Given the description of an element on the screen output the (x, y) to click on. 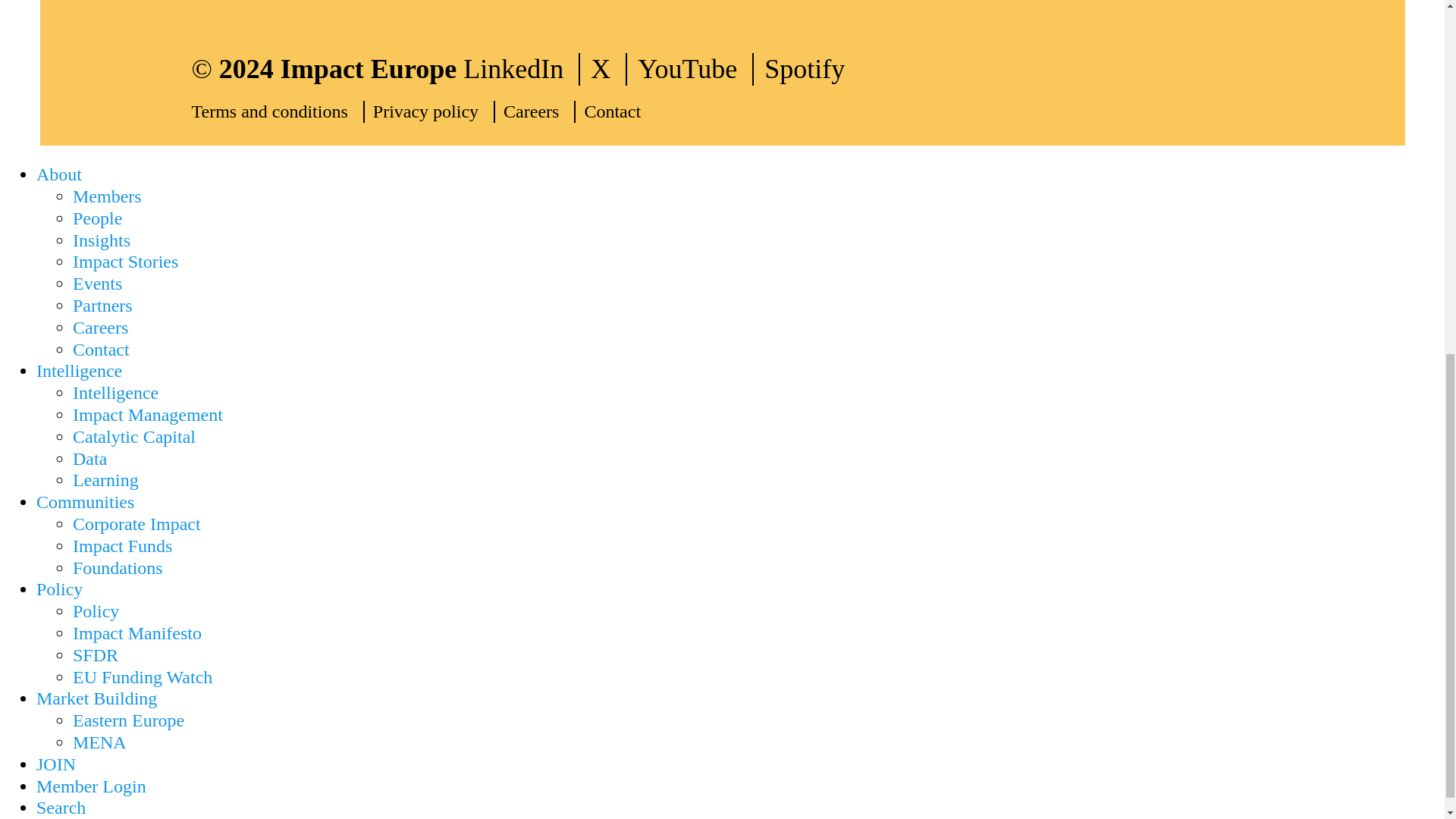
LinkedIn (521, 69)
Join Impact Europe (55, 763)
YouTube (695, 69)
Terms and conditions (277, 111)
Enabling Policies (59, 588)
Spotify (812, 69)
Privacy policy (433, 111)
X (609, 69)
Impact Europe Members (106, 196)
